Given the description of an element on the screen output the (x, y) to click on. 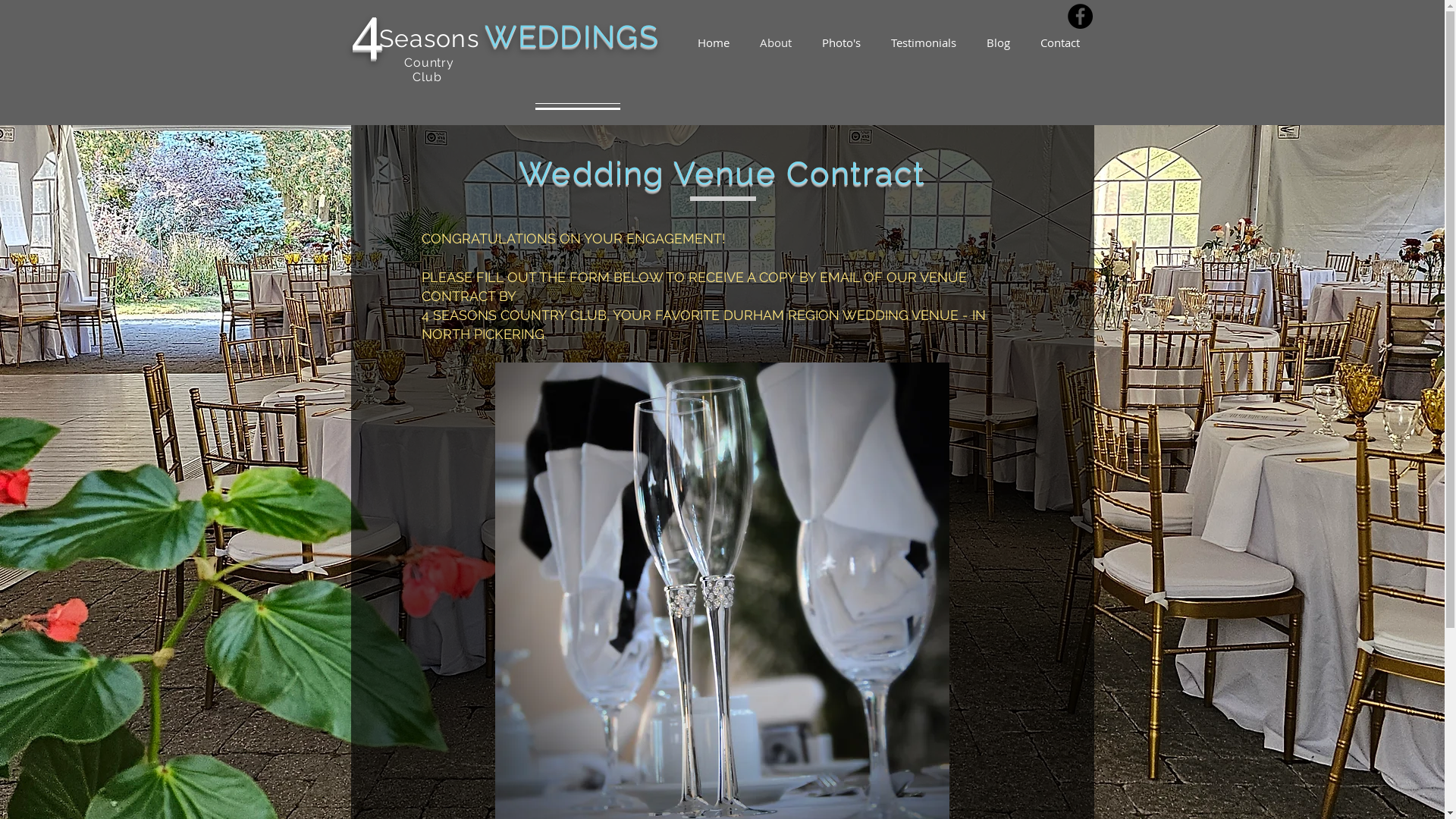
Photo's Element type: text (840, 42)
 Seasons WEDDINGS Element type: text (515, 40)
Home Element type: text (713, 42)
Blog Element type: text (997, 42)
4  Element type: text (378, 36)
Contact Element type: text (1060, 42)
About Element type: text (775, 42)
Country Club  Element type: text (429, 69)
Testimonials Element type: text (922, 42)
